Given the description of an element on the screen output the (x, y) to click on. 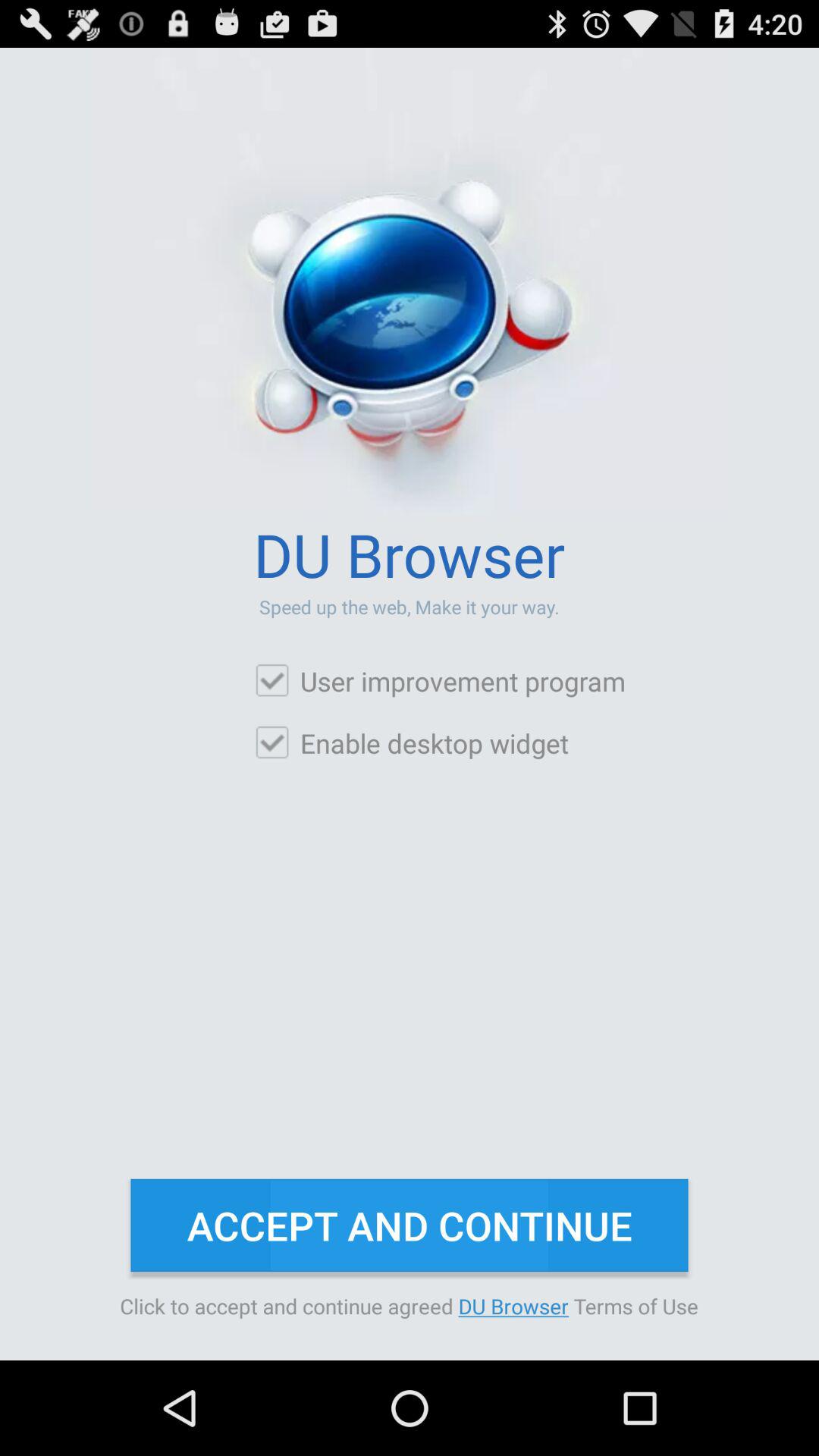
press the click to accept icon (409, 1305)
